Given the description of an element on the screen output the (x, y) to click on. 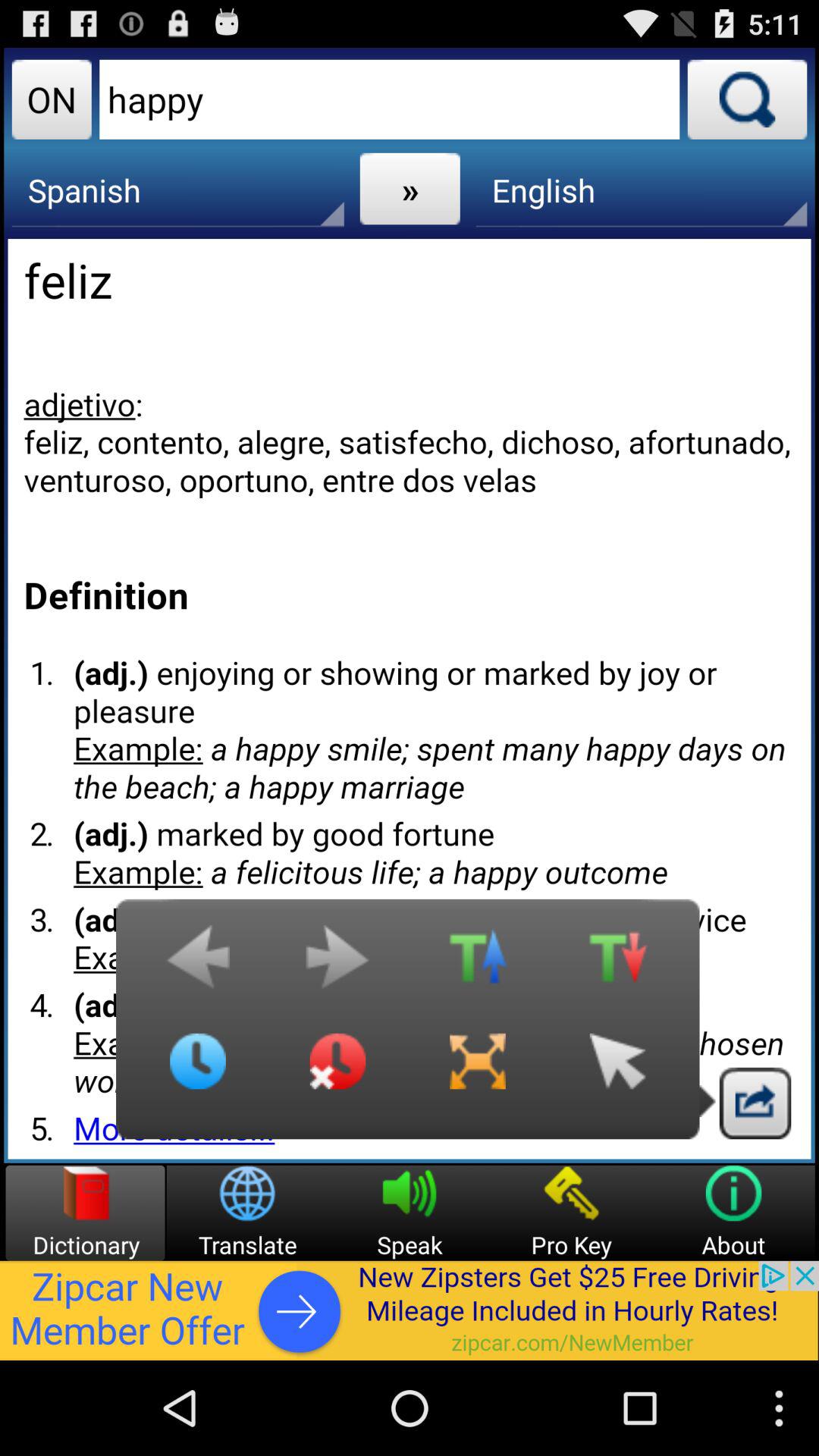
arrow icon (617, 1073)
